Given the description of an element on the screen output the (x, y) to click on. 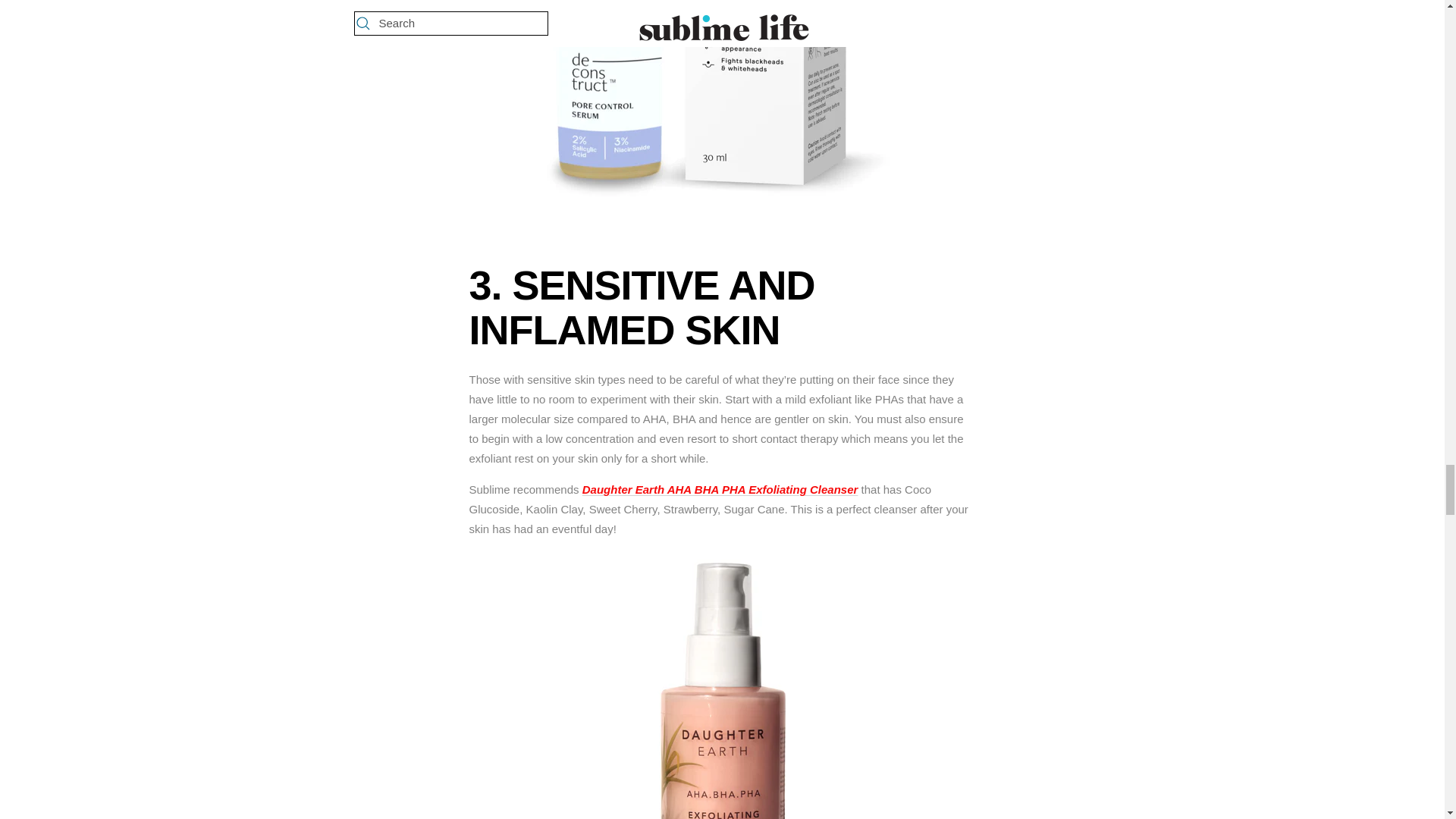
Daughter Earth AHA BHA PHA Exfoliating Cleanser (720, 489)
